Given the description of an element on the screen output the (x, y) to click on. 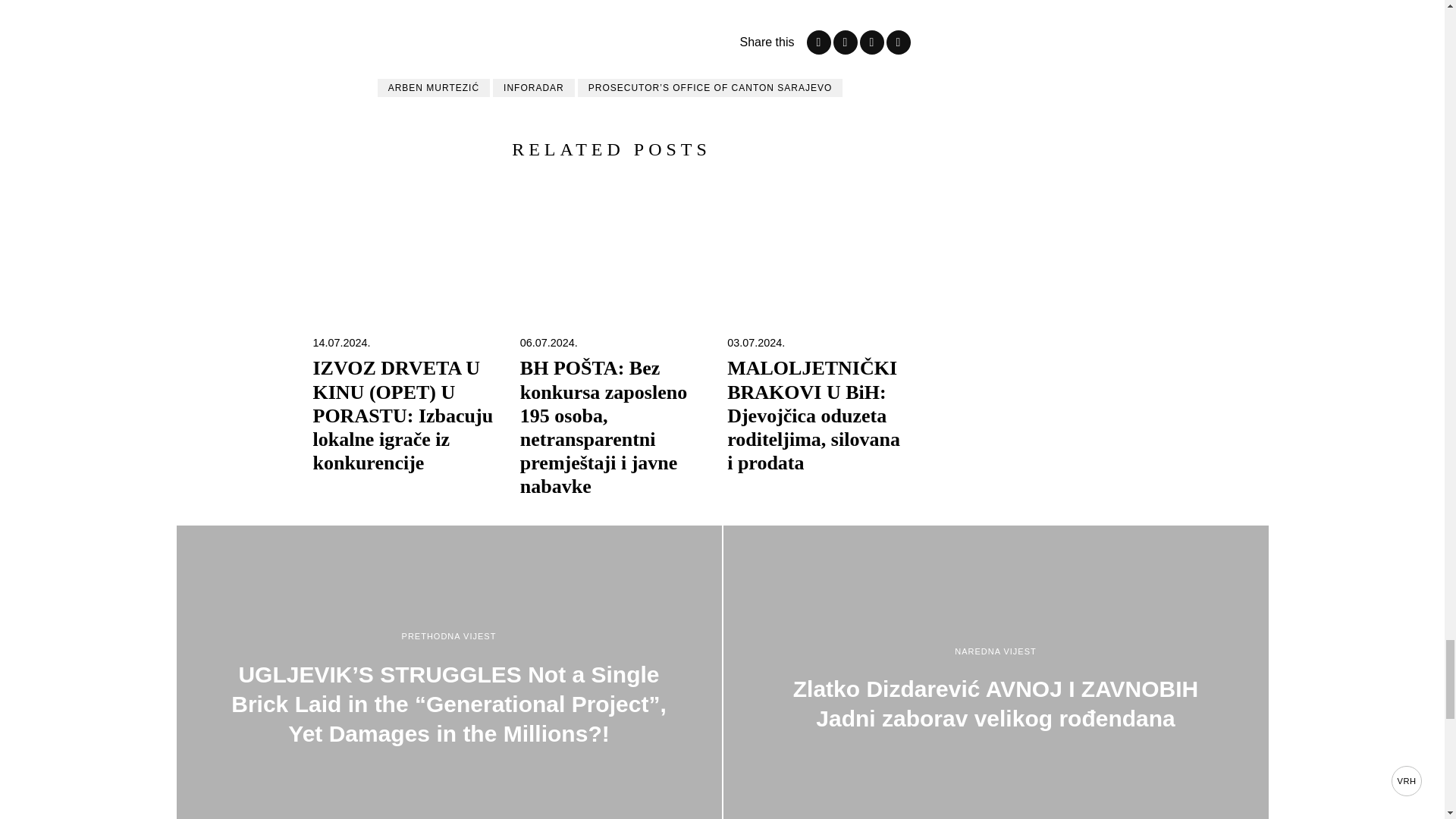
INFORADAR (534, 87)
